Given the description of an element on the screen output the (x, y) to click on. 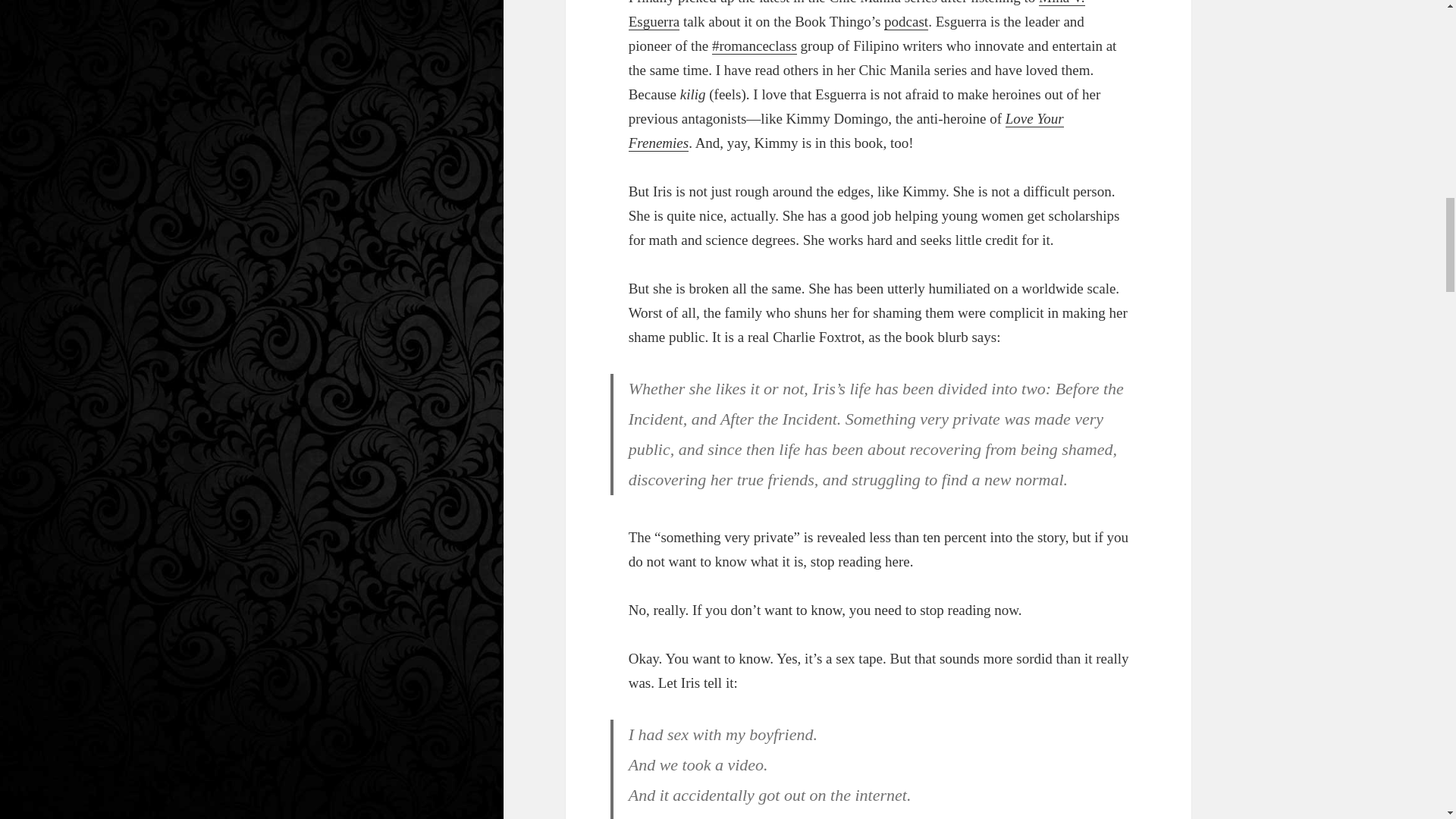
Mina V. Esguerra (856, 15)
Love Your Frenemies (846, 130)
podcast (905, 21)
